Given the description of an element on the screen output the (x, y) to click on. 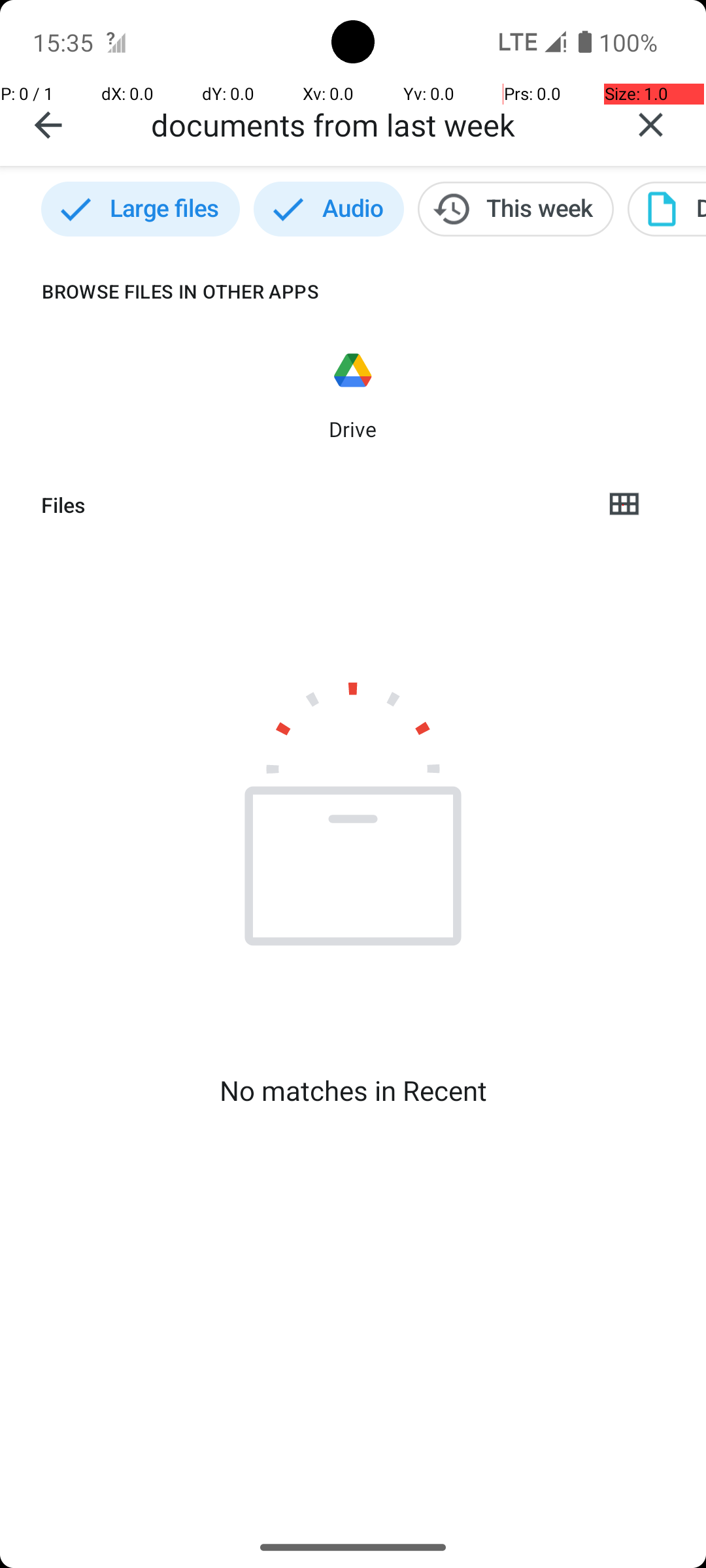
documents from last week Element type: android.widget.AutoCompleteTextView (373, 124)
